Given the description of an element on the screen output the (x, y) to click on. 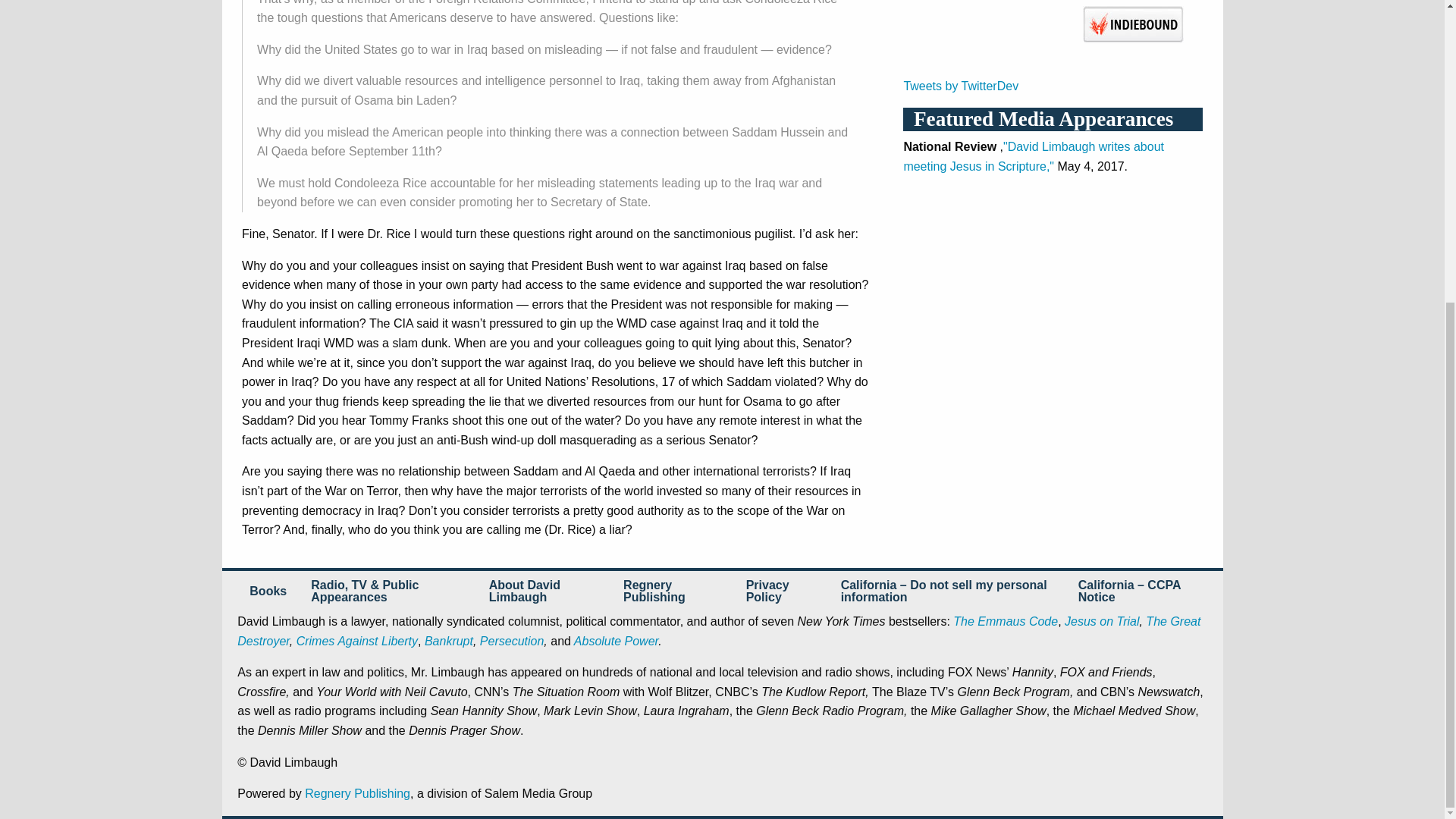
The Emmaus Code (1005, 621)
Regnery Publishing (357, 793)
The Great Destroyer (718, 631)
Absolute Power (614, 640)
Jesus on Trial (1101, 621)
Crimes Against Liberty (357, 640)
"David Limbaugh writes about meeting Jesus in Scripture," (1032, 156)
Persecution (512, 640)
Tweets by TwitterDev (959, 85)
About David Limbaugh (544, 590)
